Given the description of an element on the screen output the (x, y) to click on. 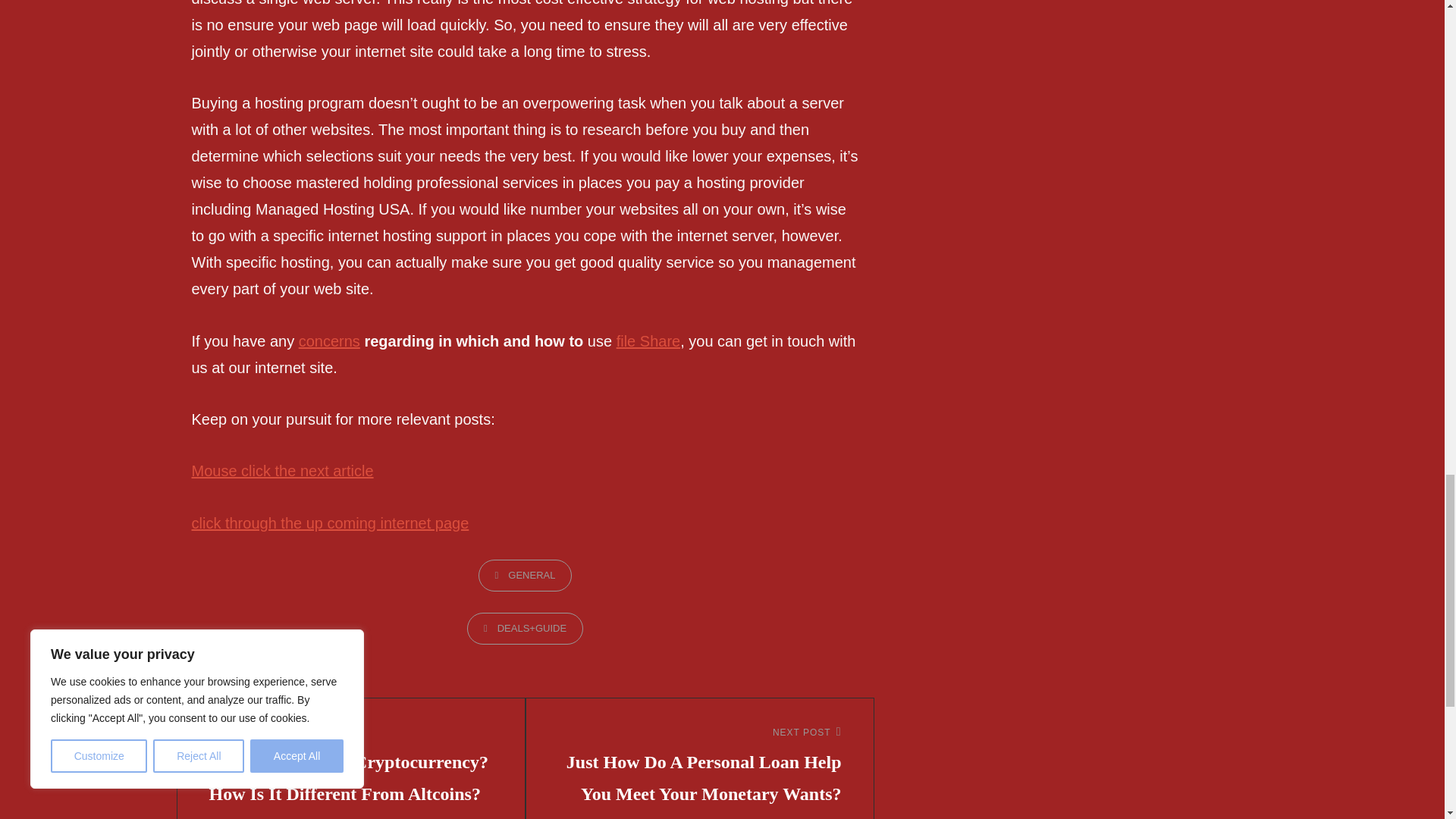
file Share (648, 340)
Mouse click the next article (281, 470)
concerns (328, 340)
click through the up coming internet page (329, 523)
GENERAL (525, 575)
